Given the description of an element on the screen output the (x, y) to click on. 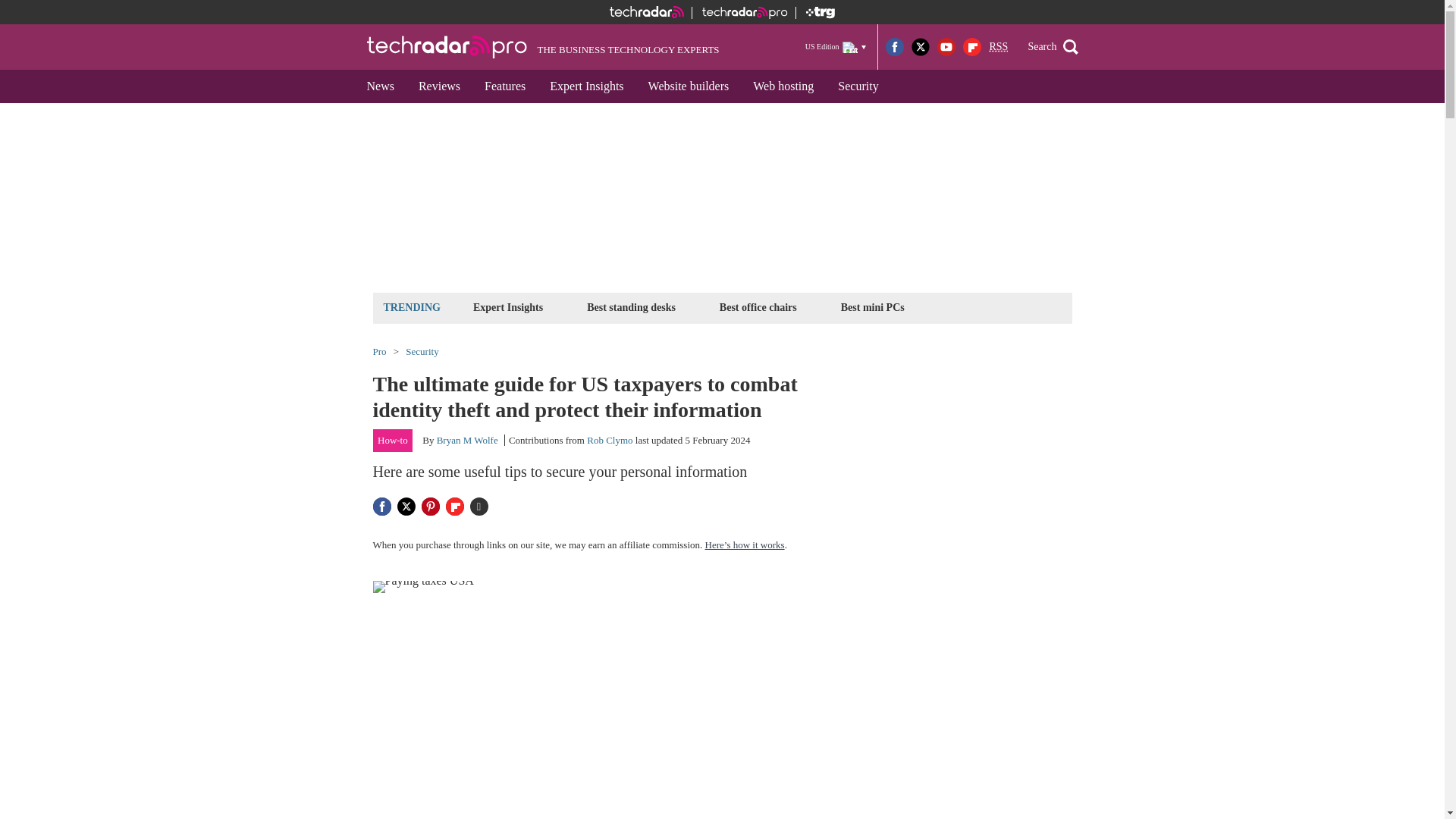
Best office chairs (758, 307)
Expert Insights (585, 86)
Best standing desks (630, 307)
Features (504, 86)
Reviews (438, 86)
US Edition (836, 46)
Website builders (688, 86)
Really Simple Syndication (997, 46)
News (380, 86)
Security (857, 86)
RSS (997, 46)
Expert Insights (507, 307)
Web hosting (783, 86)
THE BUSINESS TECHNOLOGY EXPERTS (542, 46)
